Given the description of an element on the screen output the (x, y) to click on. 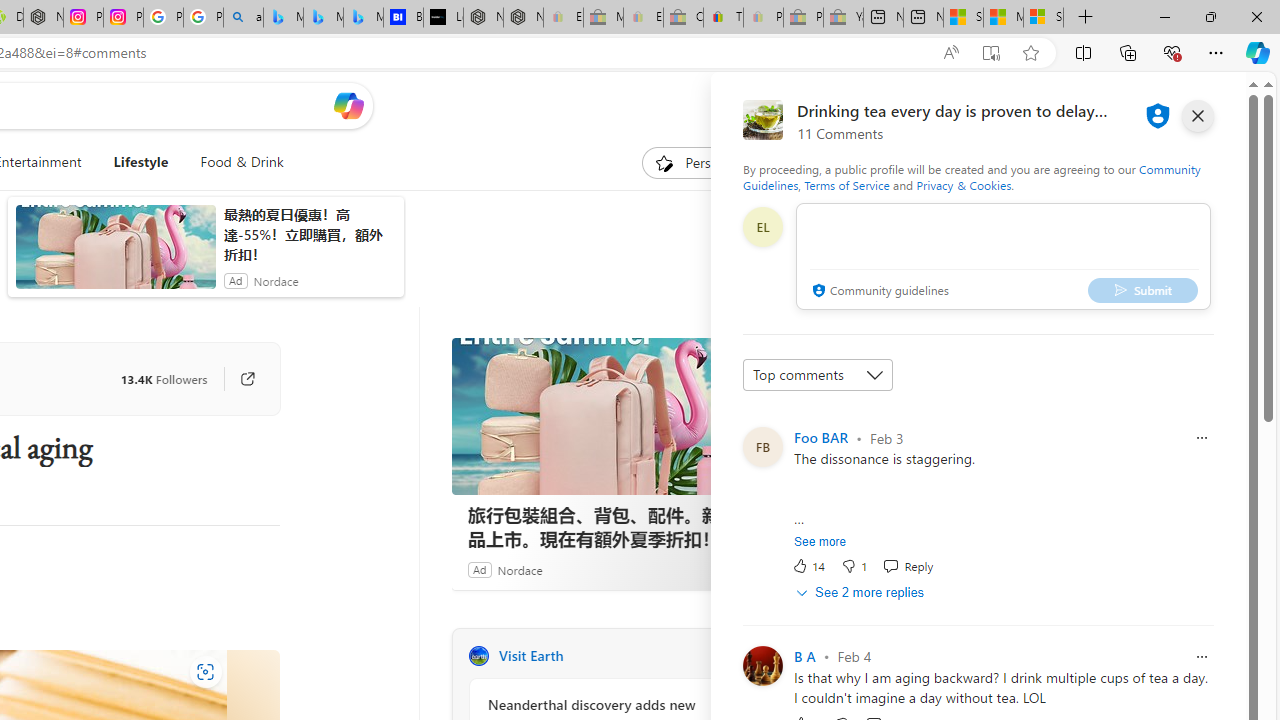
Profile Picture (762, 665)
Food & Drink (241, 162)
Collections (1128, 52)
Settings and more (Alt+F) (1215, 52)
Dislike (853, 565)
Copilot (Ctrl+Shift+.) (1258, 52)
Open settings (1216, 105)
To get missing image descriptions, open the context menu. (664, 162)
Threats and offensive language policy | eBay (723, 17)
Browser essentials (1171, 52)
